Given the description of an element on the screen output the (x, y) to click on. 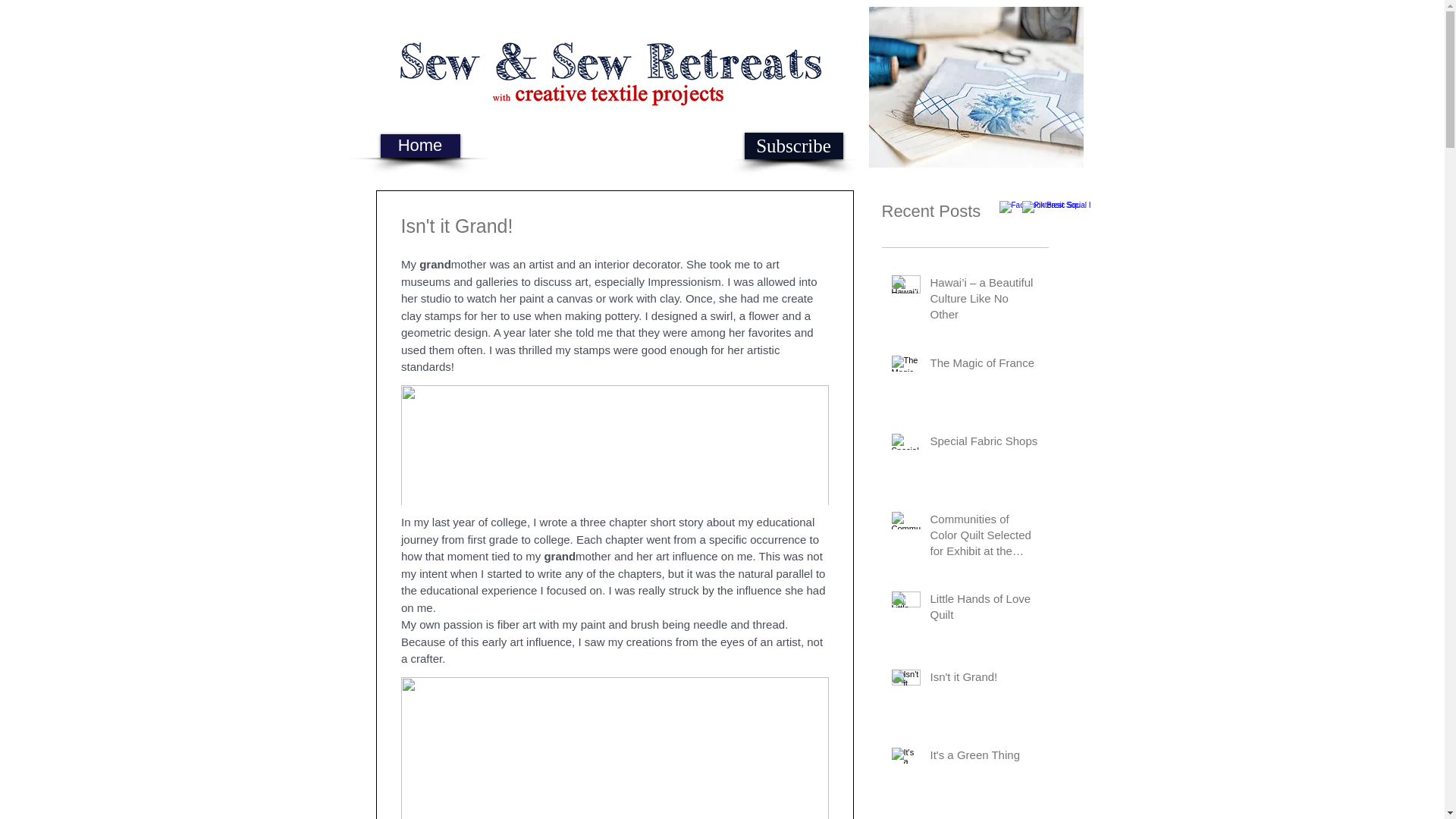
Special Fabric Shops (984, 444)
It's a Green Thing (984, 757)
Subscribe (793, 145)
Home (420, 146)
Little Hands of Love Quilt (984, 609)
Isn't it Grand! (984, 680)
The Magic of France (984, 365)
